Given the description of an element on the screen output the (x, y) to click on. 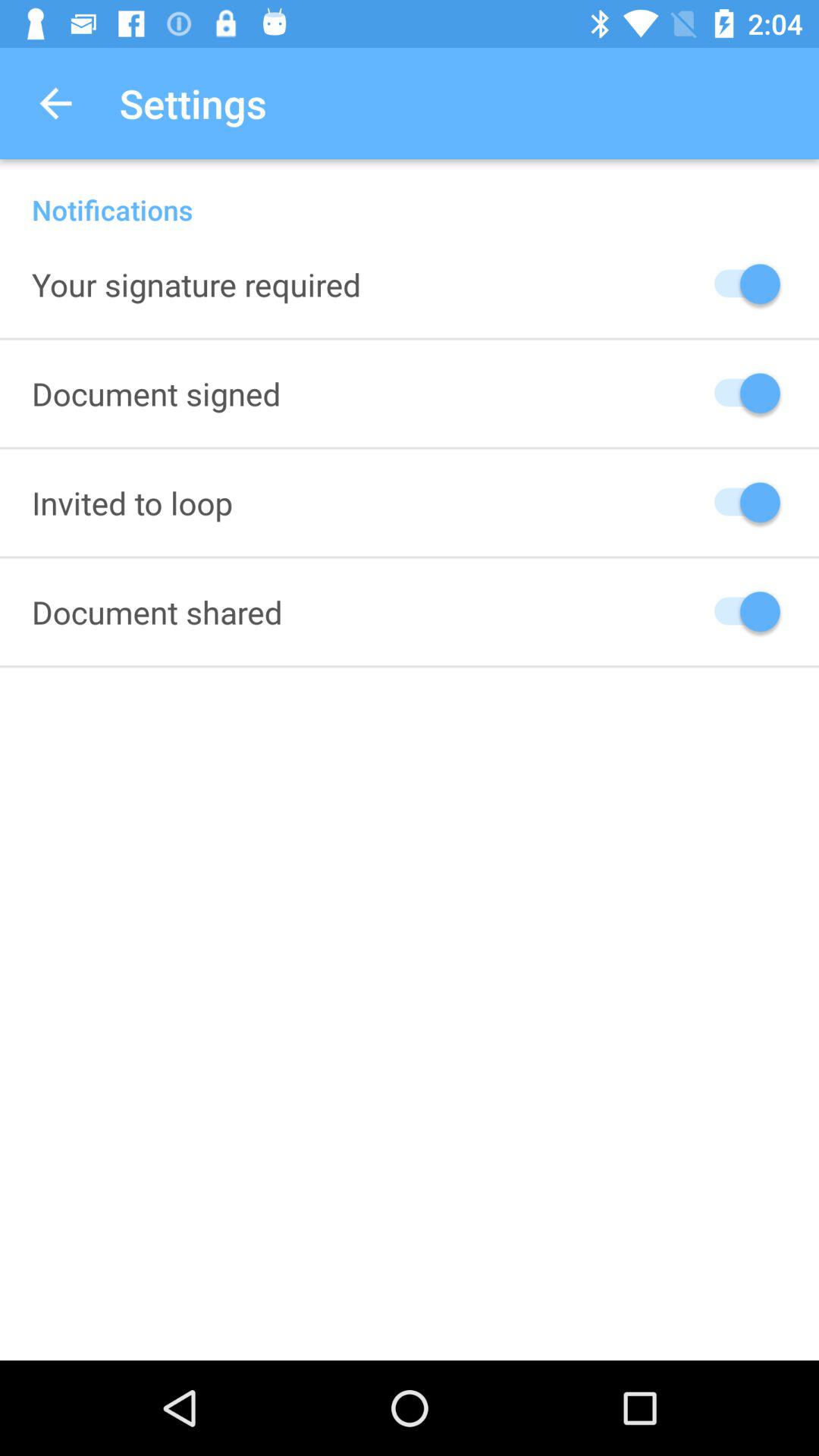
tap item above the notifications item (55, 103)
